Given the description of an element on the screen output the (x, y) to click on. 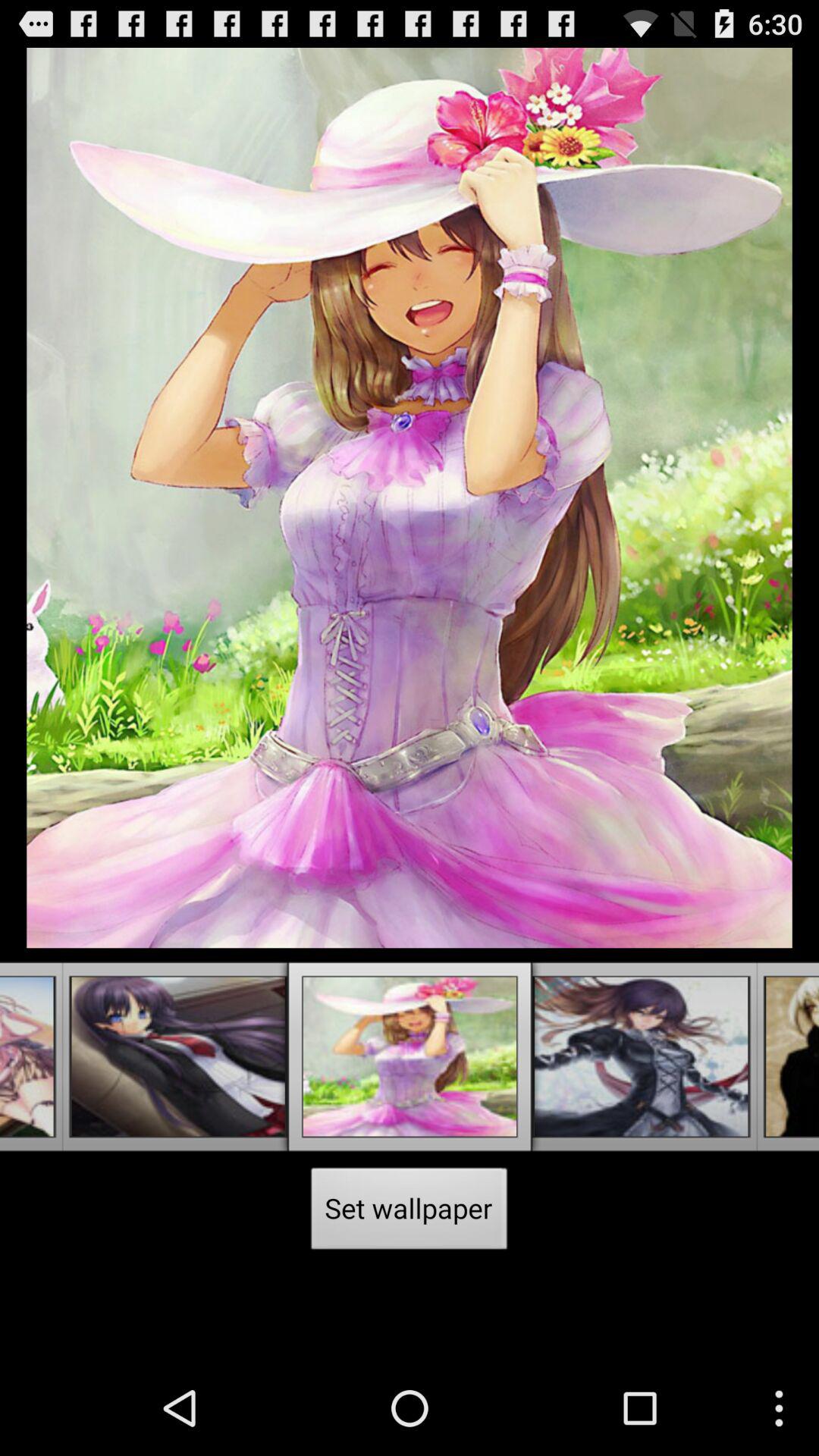
scroll until the set wallpaper button (409, 1212)
